Given the description of an element on the screen output the (x, y) to click on. 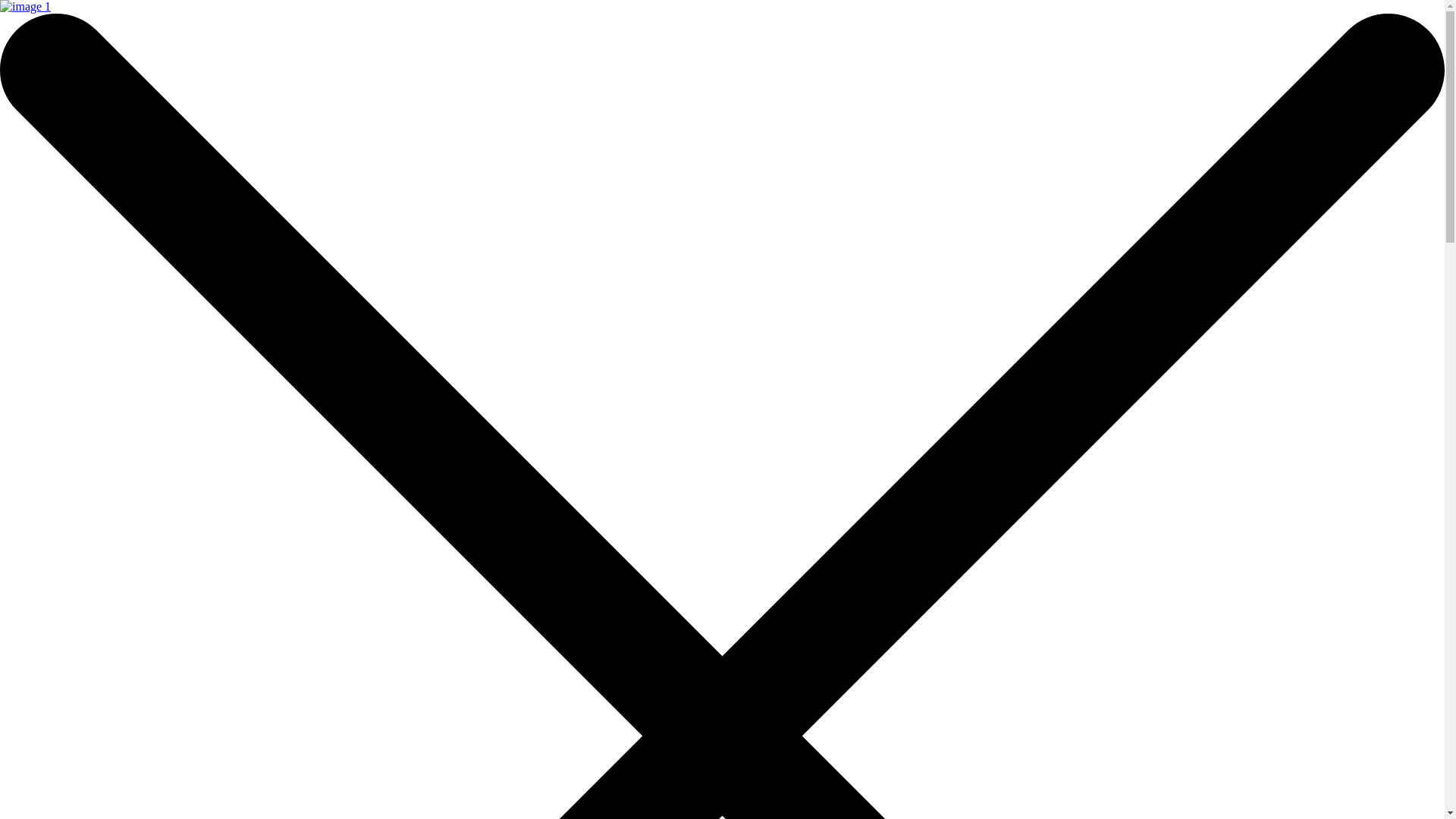
image 1 (25, 6)
